Given the description of an element on the screen output the (x, y) to click on. 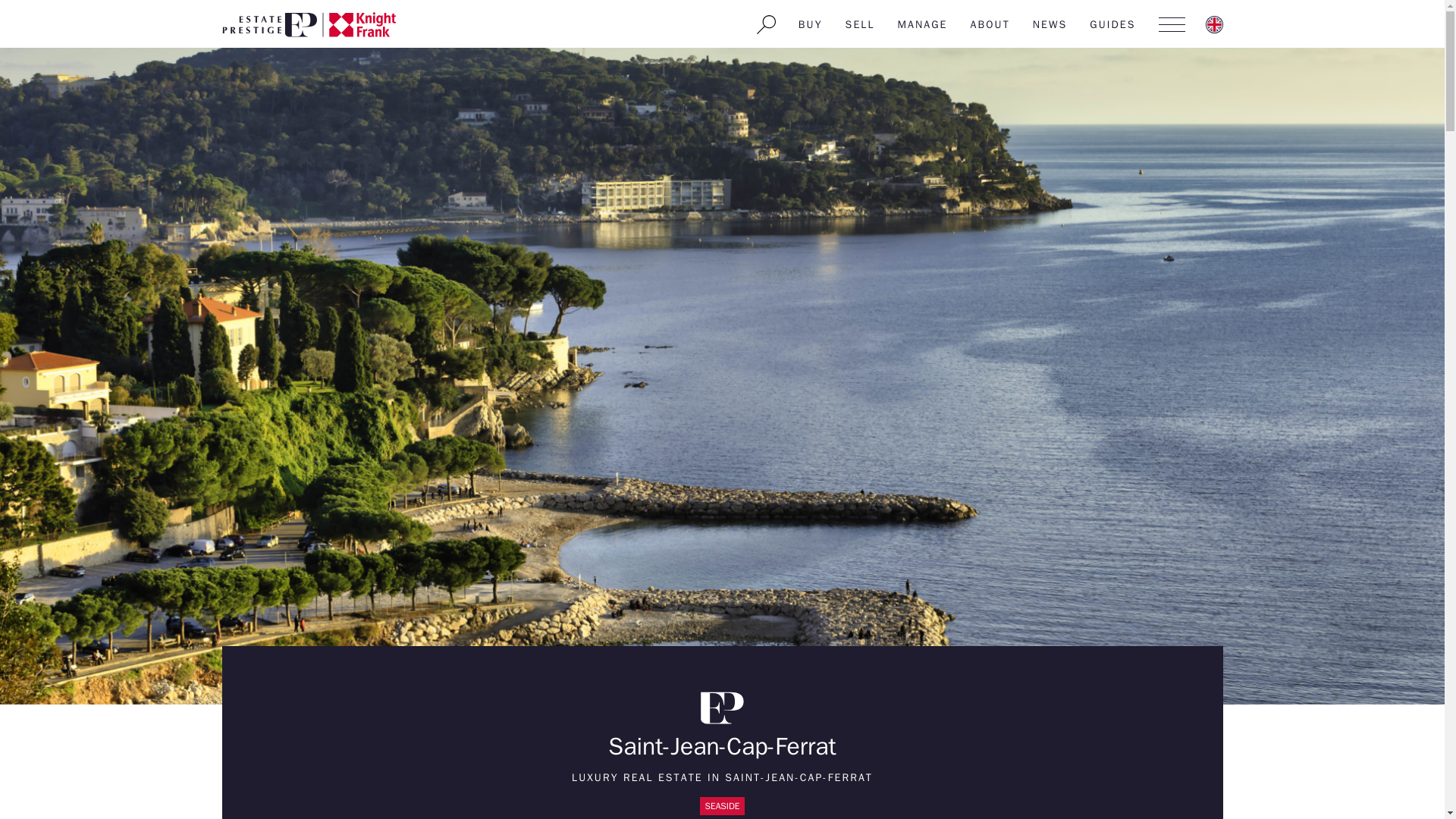
NEWS (1050, 24)
SELL (860, 24)
MANAGE (922, 24)
GUIDES (1112, 24)
ABOUT (990, 24)
BUY (810, 24)
